Given the description of an element on the screen output the (x, y) to click on. 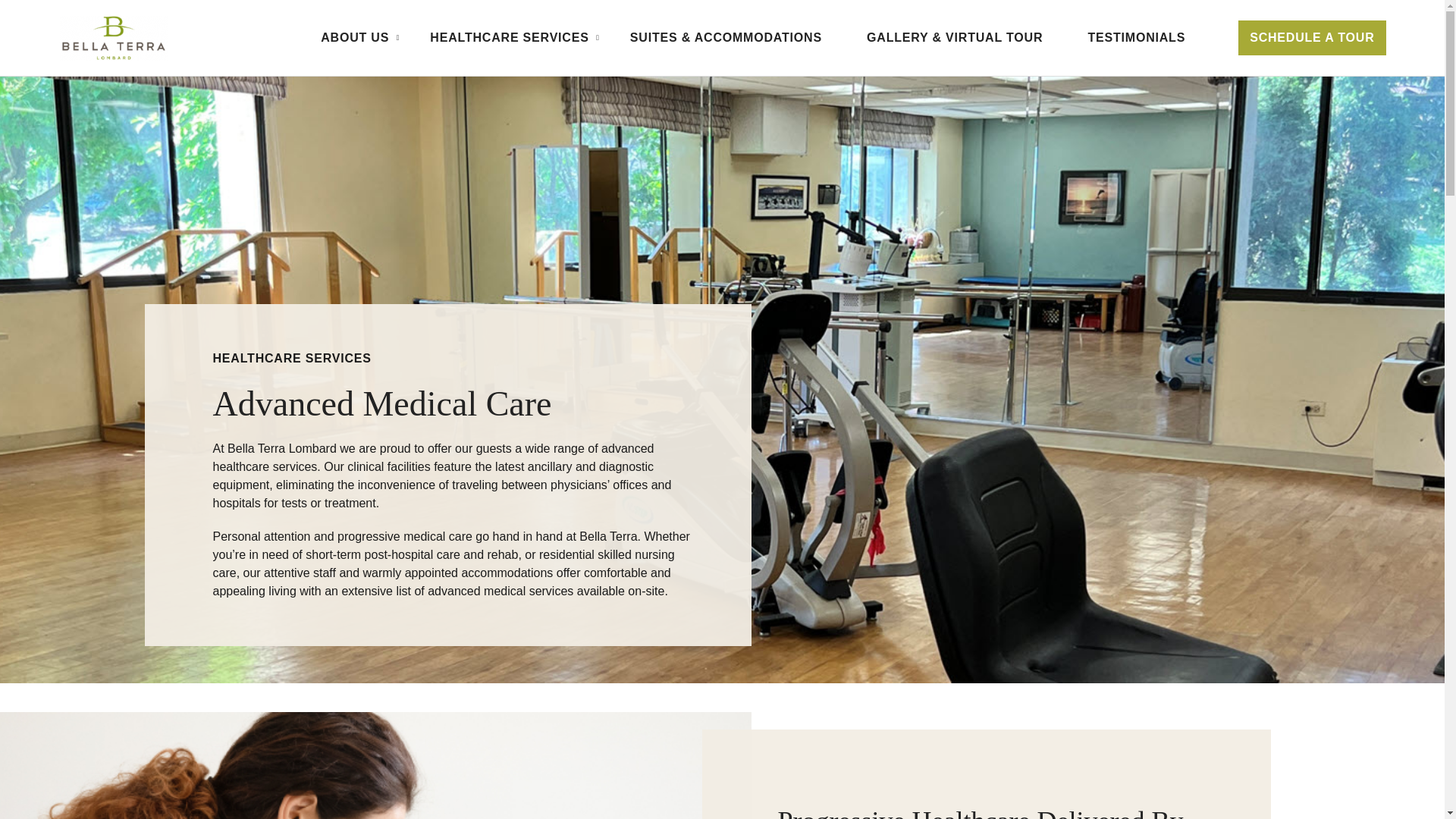
TESTIMONIALS (1135, 37)
HEALTHCARE SERVICES (507, 37)
Bella Terra - Lombard (113, 38)
ABOUT US (352, 37)
SCHEDULE A TOUR (1312, 37)
